Given the description of an element on the screen output the (x, y) to click on. 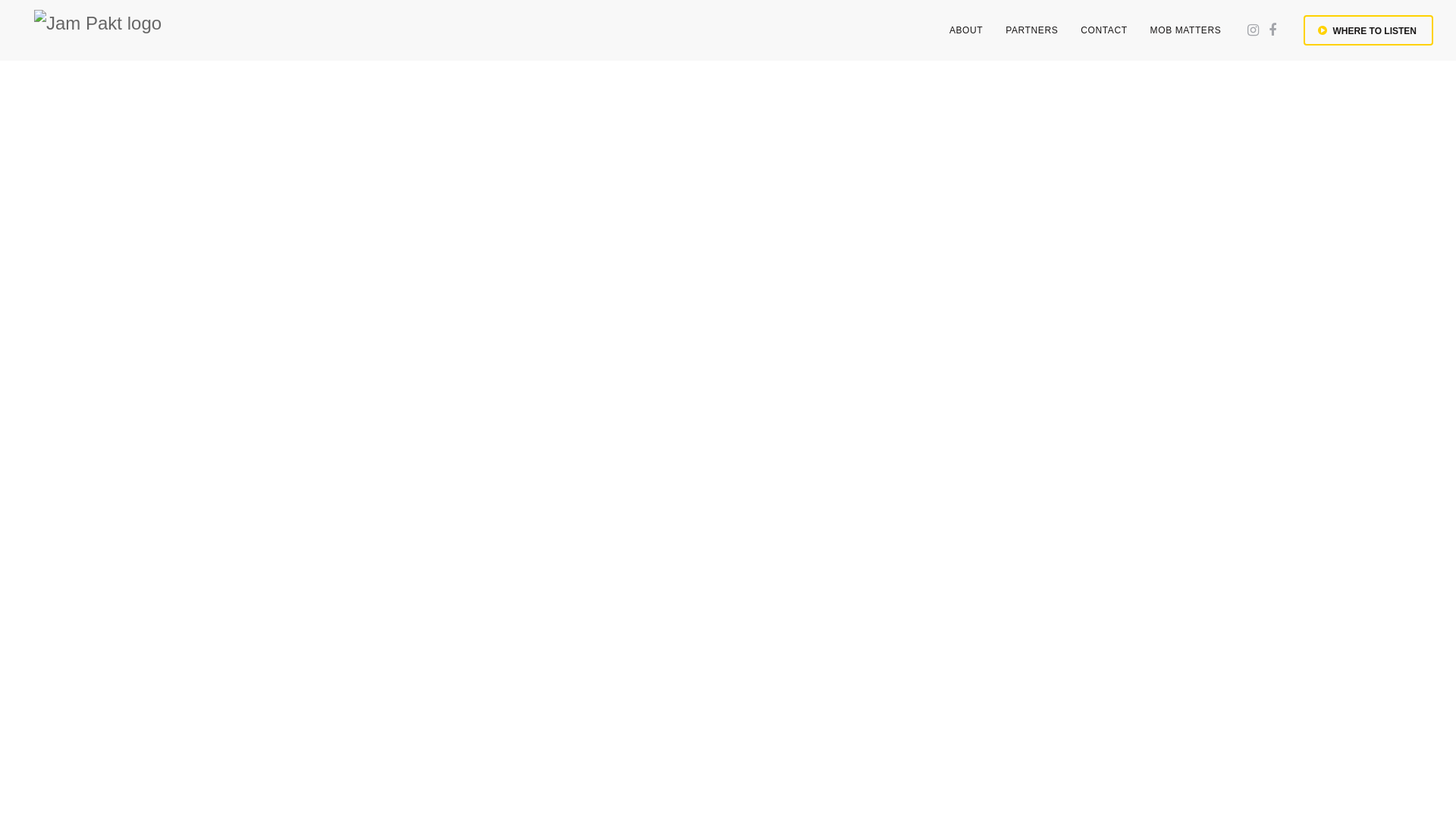
CONTACT Element type: text (1103, 30)
PARTNERS Element type: text (1031, 30)
MOB MATTERS Element type: text (1186, 30)
WHERE TO LISTEN Element type: text (1368, 30)
ABOUT Element type: text (966, 30)
